Given the description of an element on the screen output the (x, y) to click on. 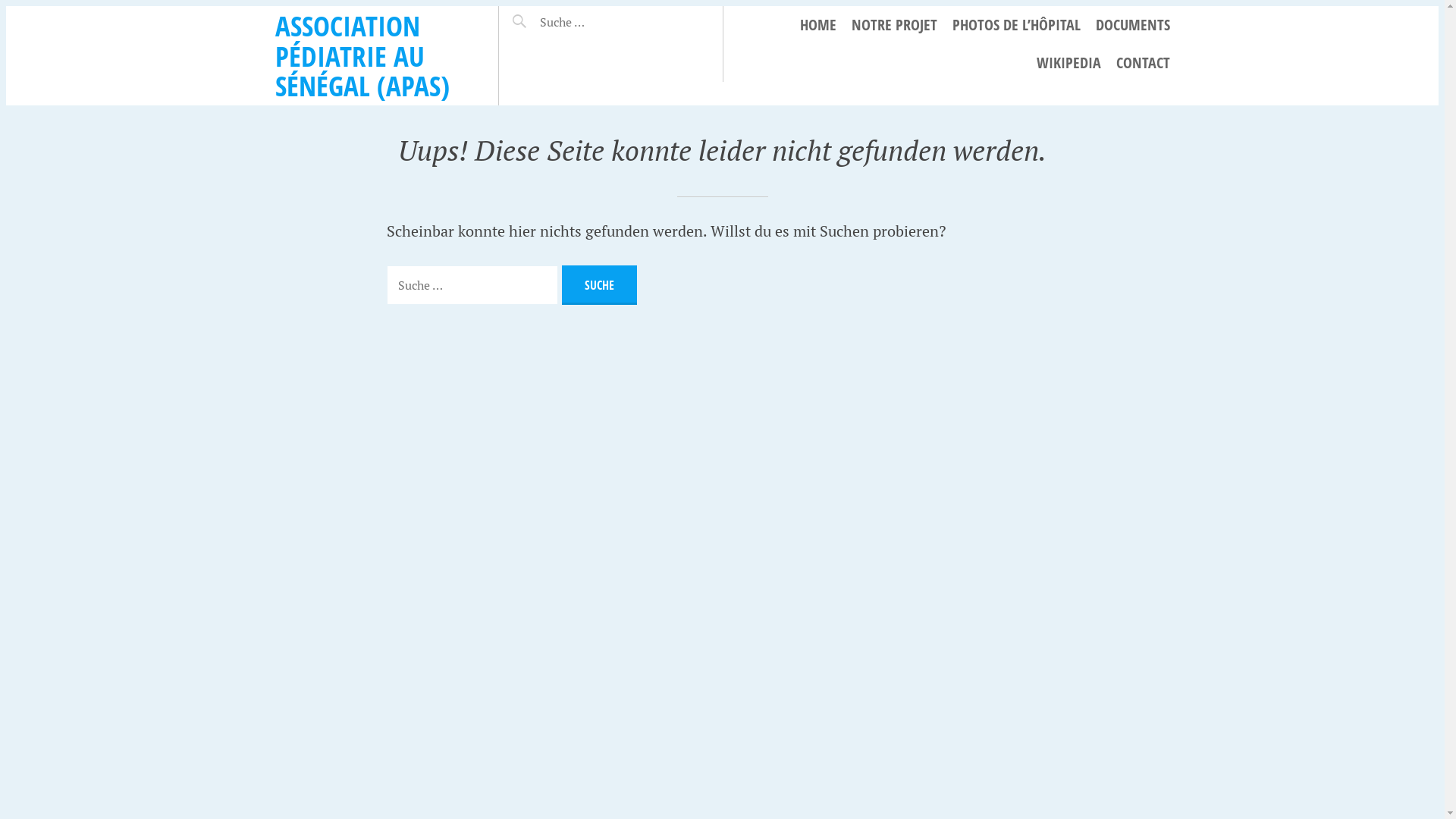
CONTACT Element type: text (1143, 62)
Suche Element type: text (599, 284)
DOCUMENTS Element type: text (1132, 24)
HOME Element type: text (817, 24)
NOTRE PROJET Element type: text (893, 24)
Suche Element type: text (537, 15)
WIKIPEDIA Element type: text (1067, 62)
